Given the description of an element on the screen output the (x, y) to click on. 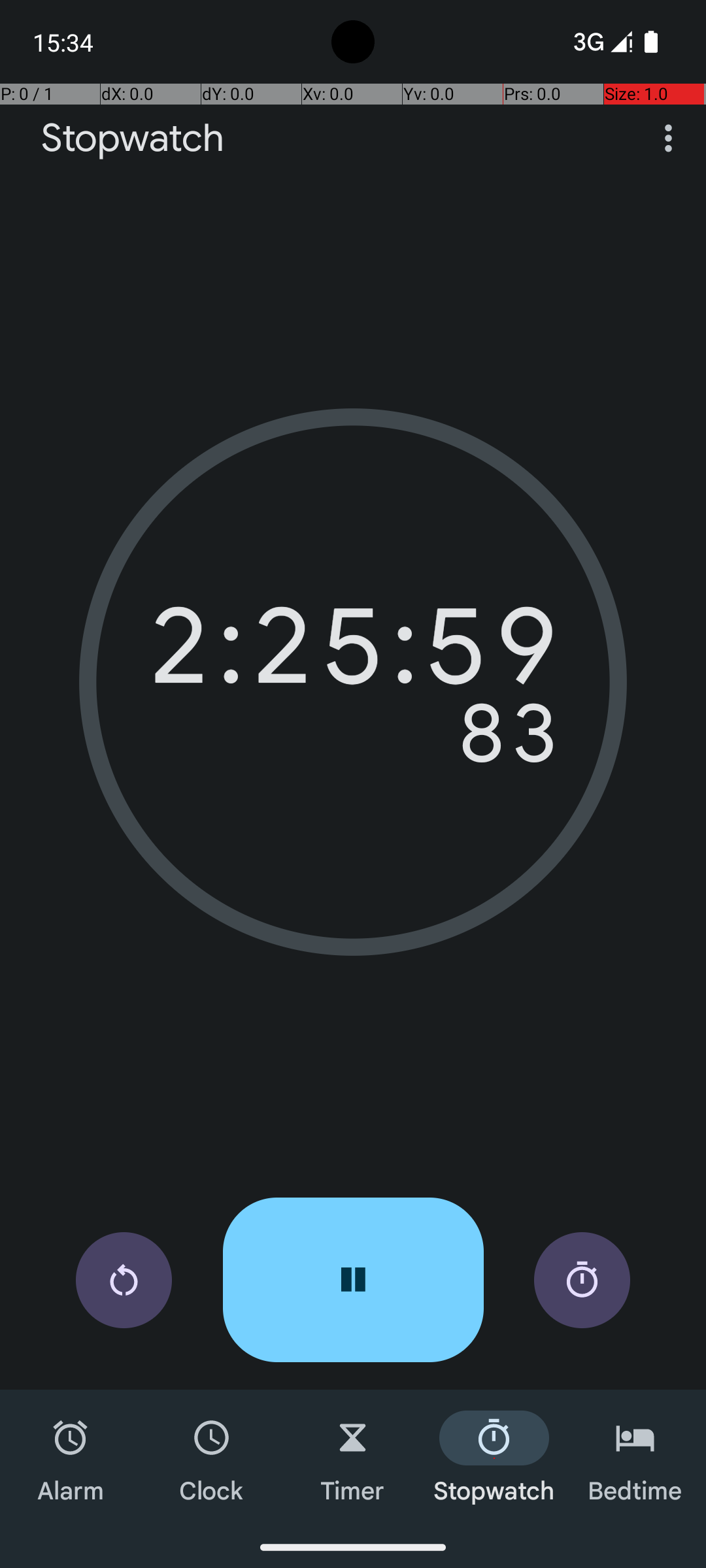
2:25:57 Element type: android.widget.TextView (352, 652)
